Given the description of an element on the screen output the (x, y) to click on. 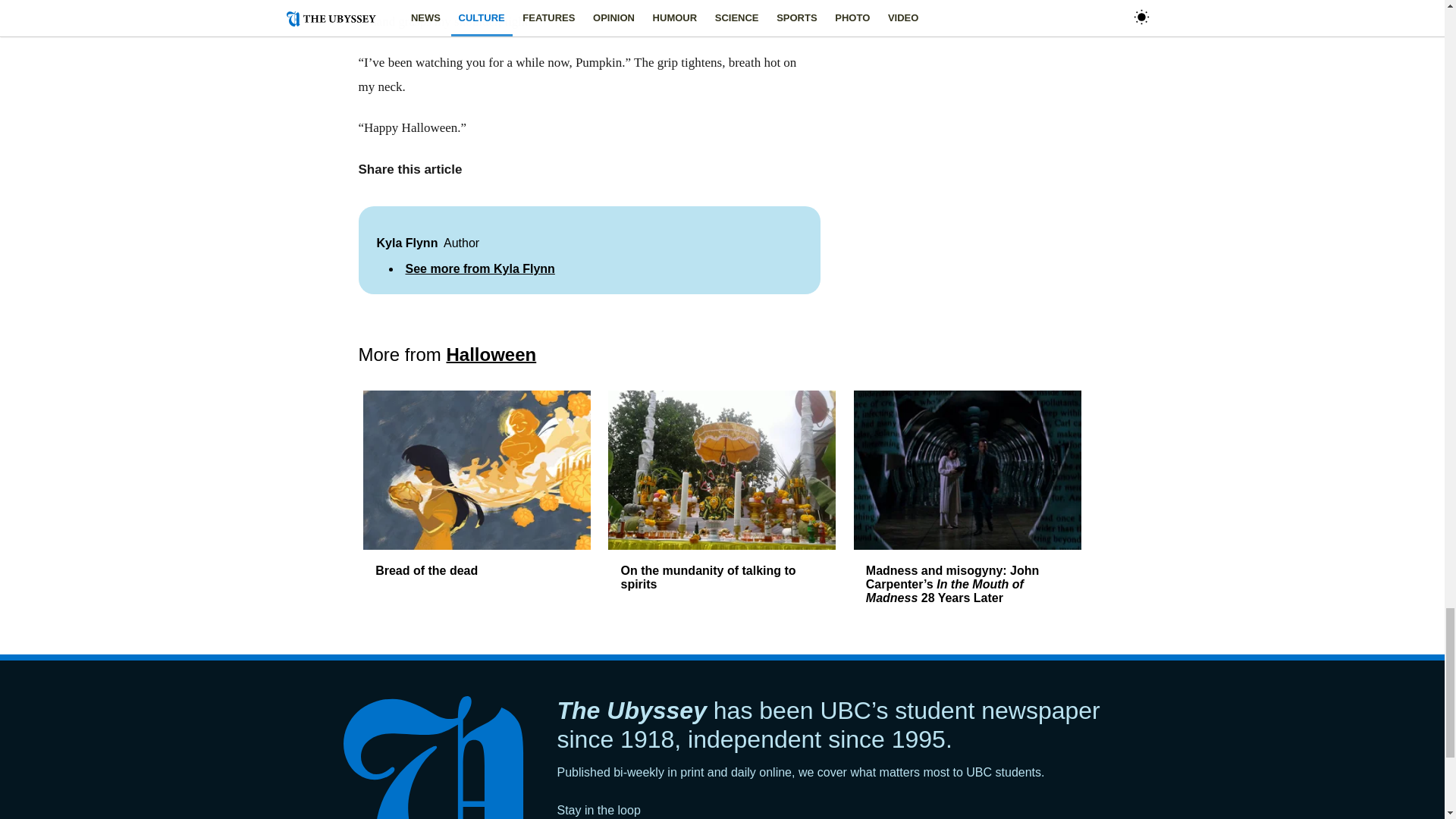
Bread of the dead (426, 570)
Kyla Flynn (406, 242)
On the mundanity of talking to spirits (707, 577)
See more from Kyla Flynn (479, 268)
Halloween (491, 353)
